Given the description of an element on the screen output the (x, y) to click on. 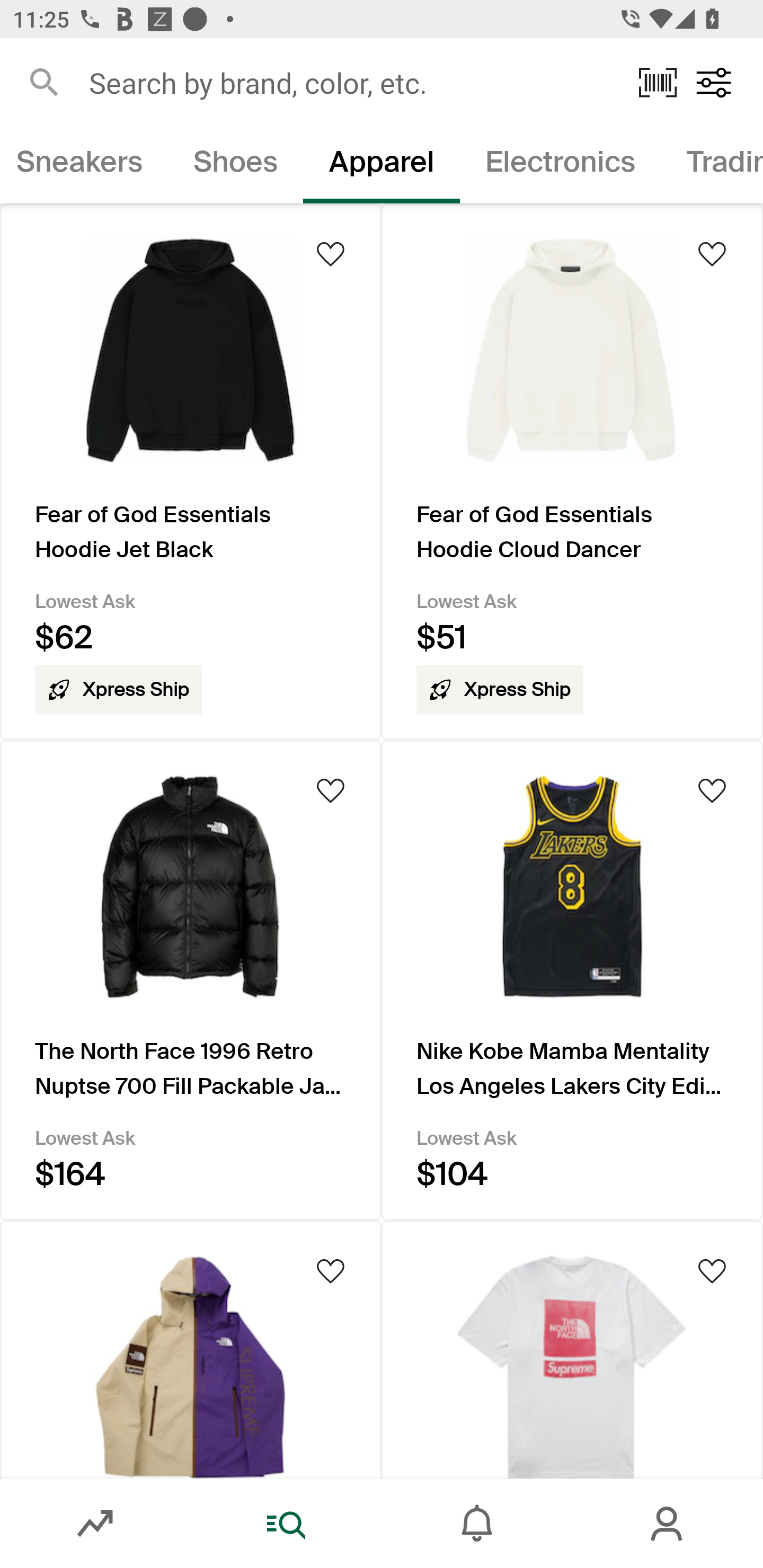
Search by brand, color, etc. (351, 82)
Sneakers (83, 165)
Shoes (234, 165)
Electronics (560, 165)
Product Image (190, 1348)
Product Image (572, 1348)
Market (95, 1523)
Inbox (476, 1523)
Account (667, 1523)
